Given the description of an element on the screen output the (x, y) to click on. 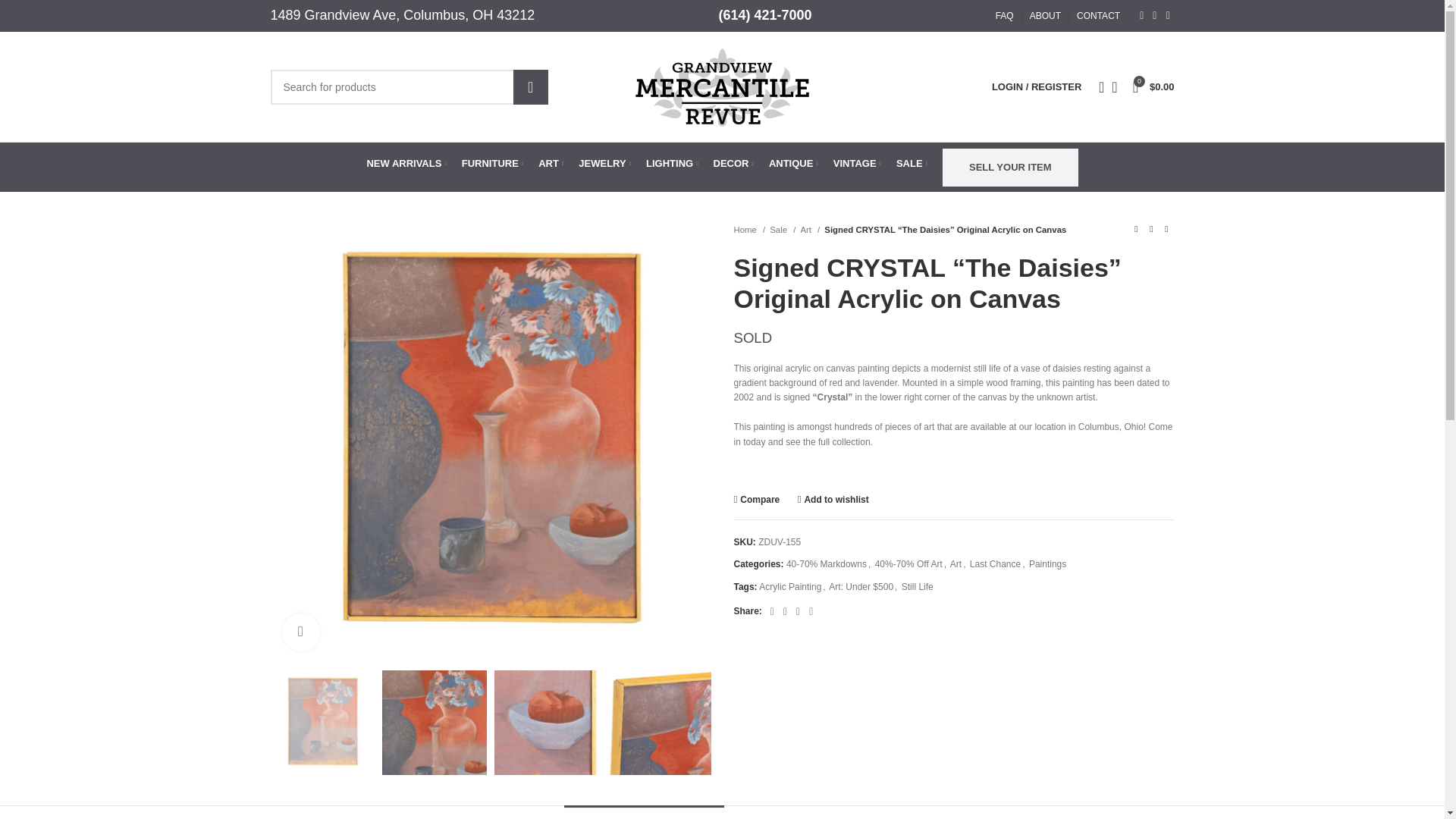
CONTACT (1098, 15)
FURNITURE (491, 163)
Shopping cart (1153, 86)
Log in (956, 320)
Search for products (408, 86)
ABOUT (1045, 15)
1489 Grandview Ave, Columbus, OH 43212 (401, 14)
My account (1036, 86)
NEW ARRIVALS (405, 163)
SEARCH (530, 86)
